Given the description of an element on the screen output the (x, y) to click on. 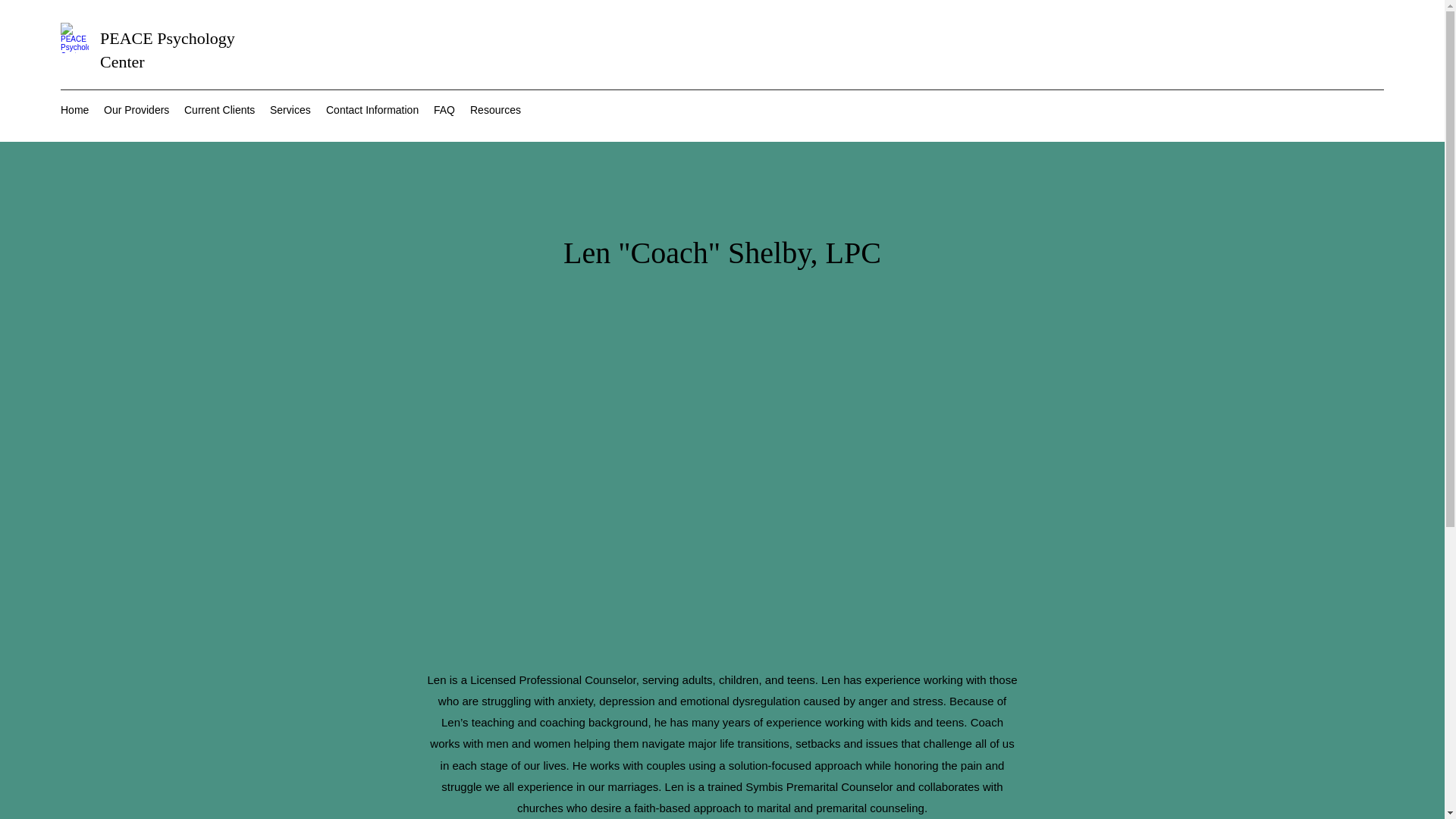
PEACE Psychology Center (167, 49)
Current Clients (219, 109)
Home (74, 109)
Our Providers (136, 109)
Services (290, 109)
FAQ (444, 109)
Contact Information (372, 109)
Resources (495, 109)
